Given the description of an element on the screen output the (x, y) to click on. 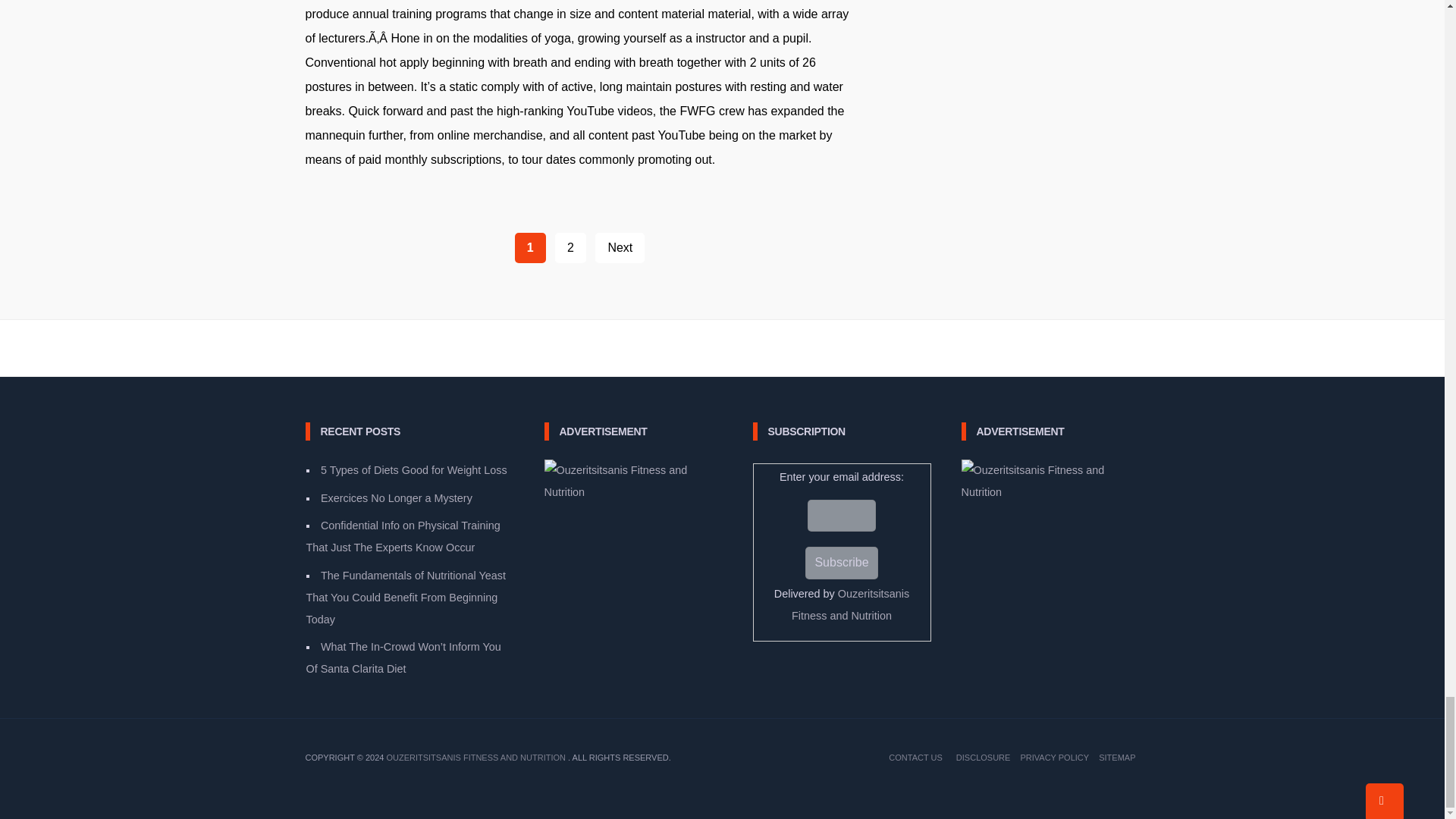
Next (620, 247)
2 (570, 247)
Subscribe (841, 563)
